Given the description of an element on the screen output the (x, y) to click on. 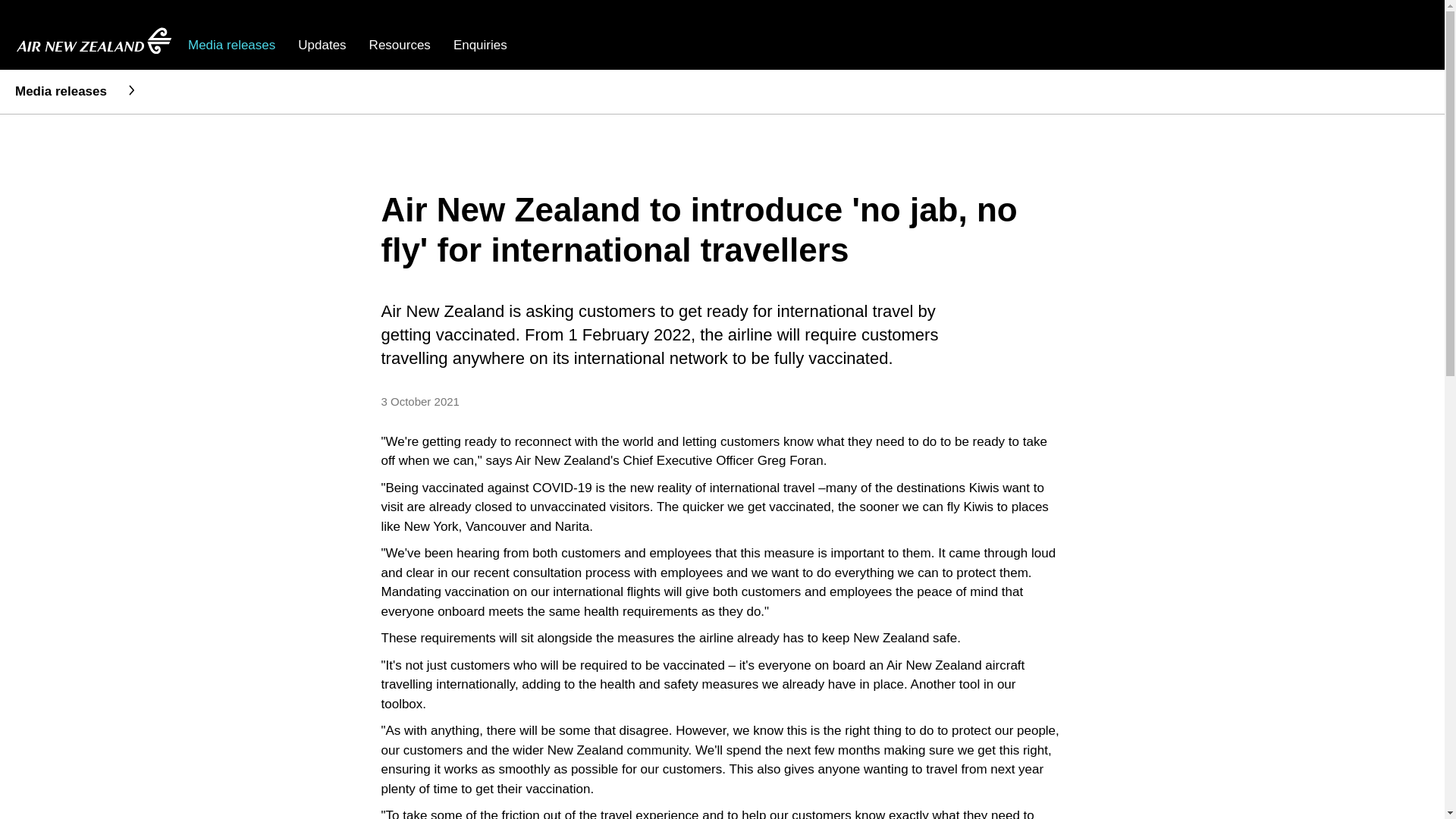
Media releases (60, 91)
Updates (322, 44)
Resources (399, 44)
Enquiries (479, 44)
Media releases (231, 44)
